Given the description of an element on the screen output the (x, y) to click on. 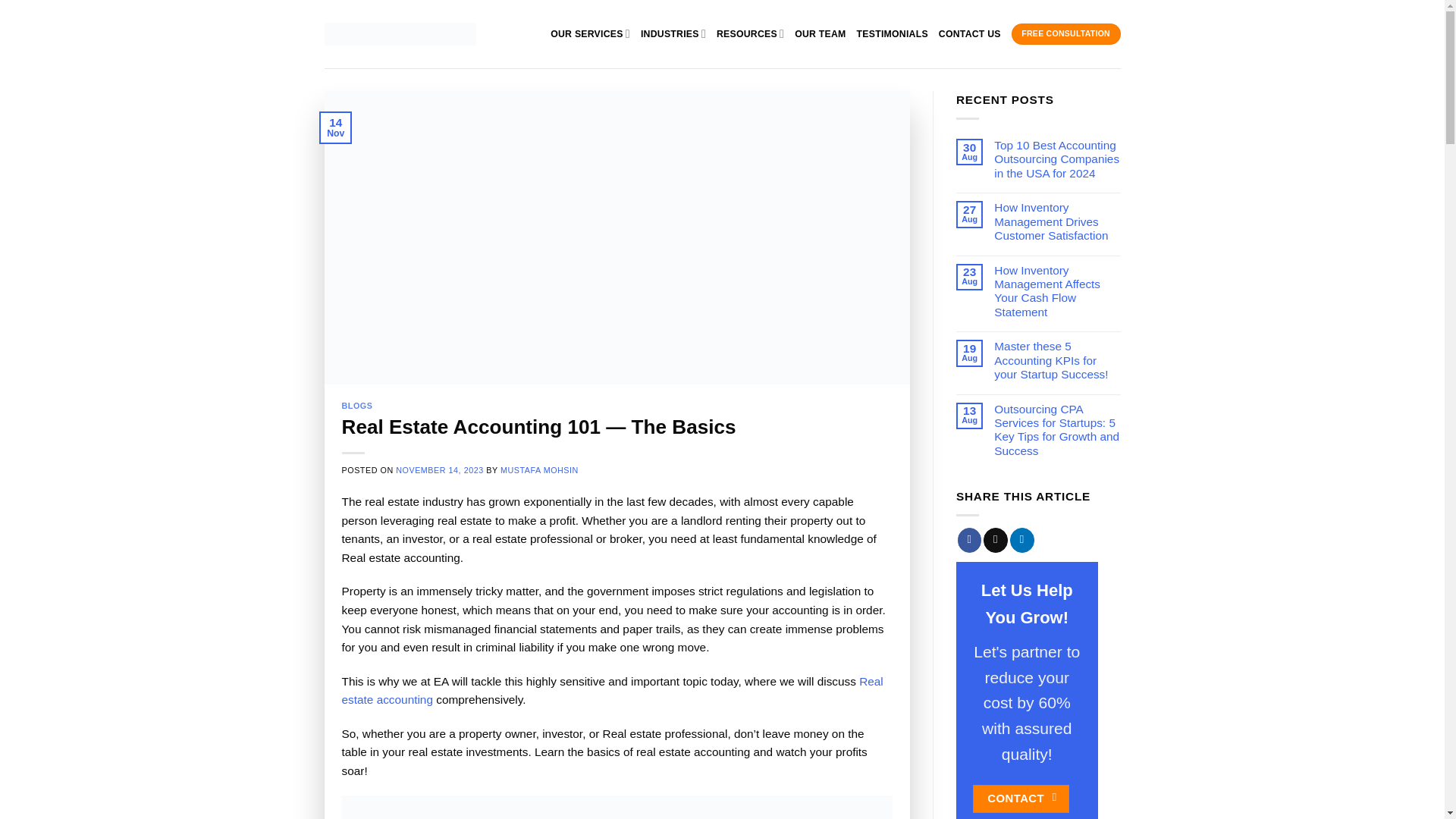
RESOURCES (750, 33)
OUR TEAM (819, 33)
INDUSTRIES (673, 33)
Real estate accounting (612, 690)
TESTIMONIALS (892, 33)
BLOGS (357, 405)
MUSTAFA MOHSIN (539, 470)
FREE CONSULTATION (1066, 33)
OUR SERVICES (590, 33)
CONTACT US (970, 33)
